Given the description of an element on the screen output the (x, y) to click on. 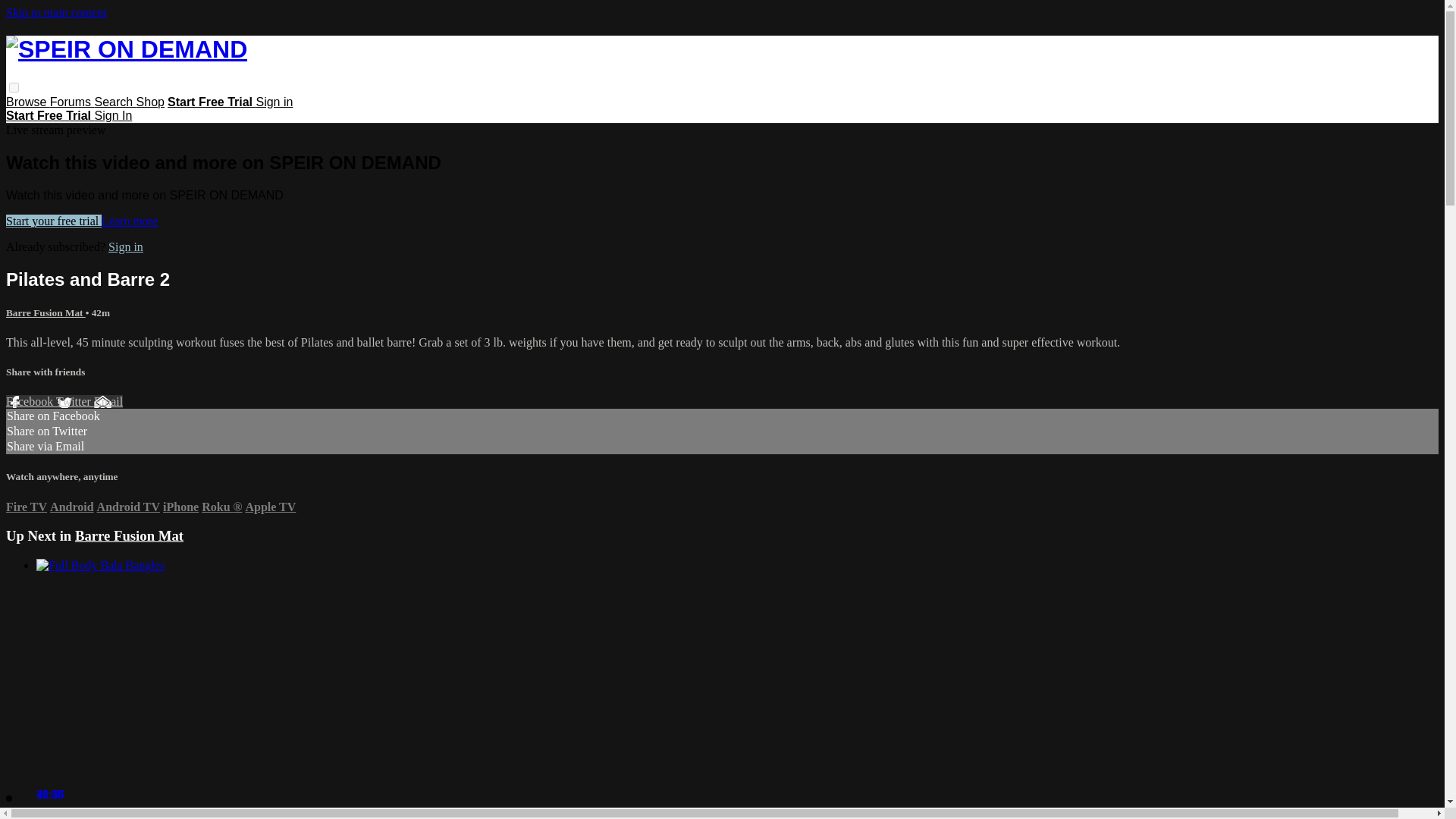
Twitter (75, 400)
Sign In (113, 115)
Forums (71, 101)
Search (114, 101)
Start Free Trial (211, 101)
Skip to main content (55, 11)
iPhone (180, 506)
Shop (150, 101)
Start Free Trial (49, 115)
Fire TV (25, 506)
Barre Fusion Mat (129, 535)
Start your free trial (53, 220)
Sign in (274, 101)
on (13, 87)
Android TV (128, 506)
